Given the description of an element on the screen output the (x, y) to click on. 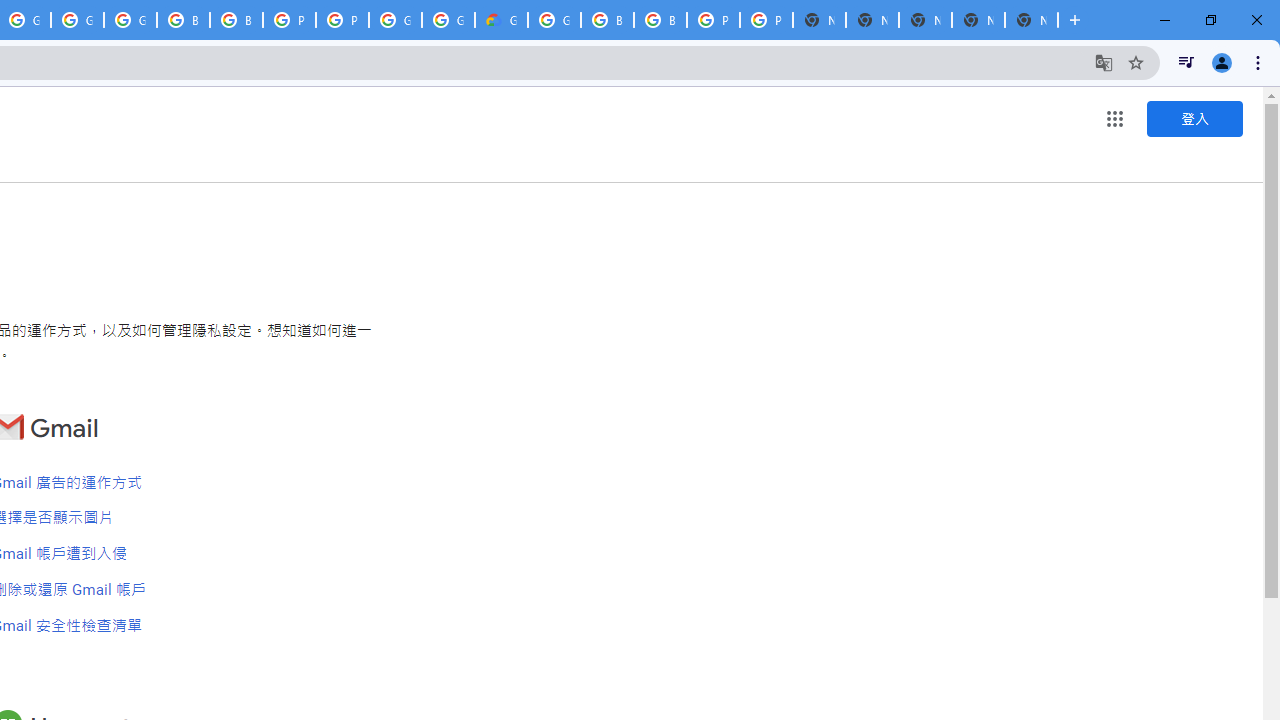
Google Cloud Platform (448, 20)
Browse Chrome as a guest - Computer - Google Chrome Help (235, 20)
Browse Chrome as a guest - Computer - Google Chrome Help (607, 20)
Google Cloud Platform (554, 20)
Google Cloud Estimate Summary (501, 20)
